Given the description of an element on the screen output the (x, y) to click on. 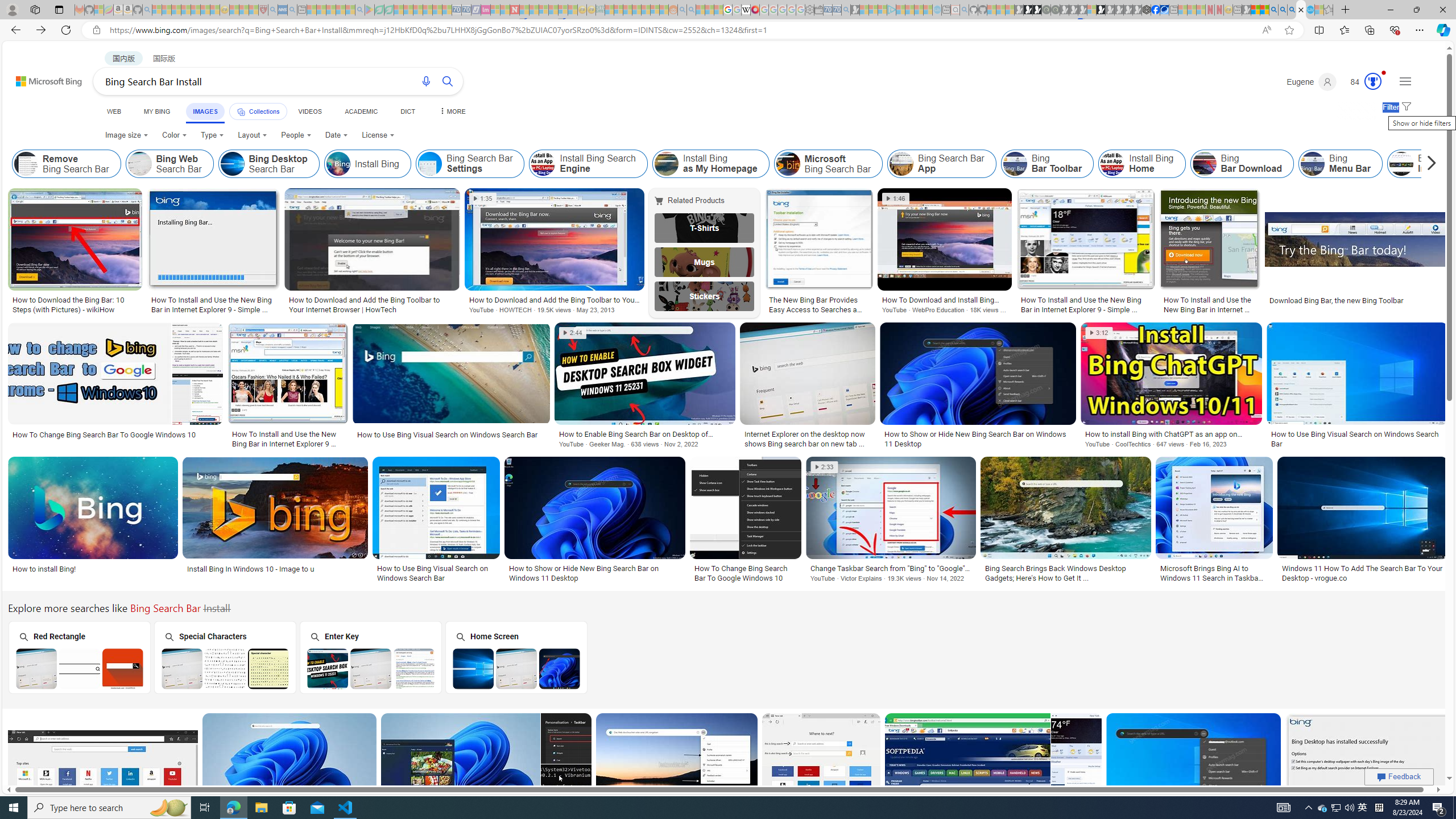
Bing Search Bar App (941, 163)
Bing Stickers (704, 296)
Favorites - Sleeping (1328, 9)
Image result for Bing Search Bar Install (1366, 763)
Eugene (1311, 81)
